Given the description of an element on the screen output the (x, y) to click on. 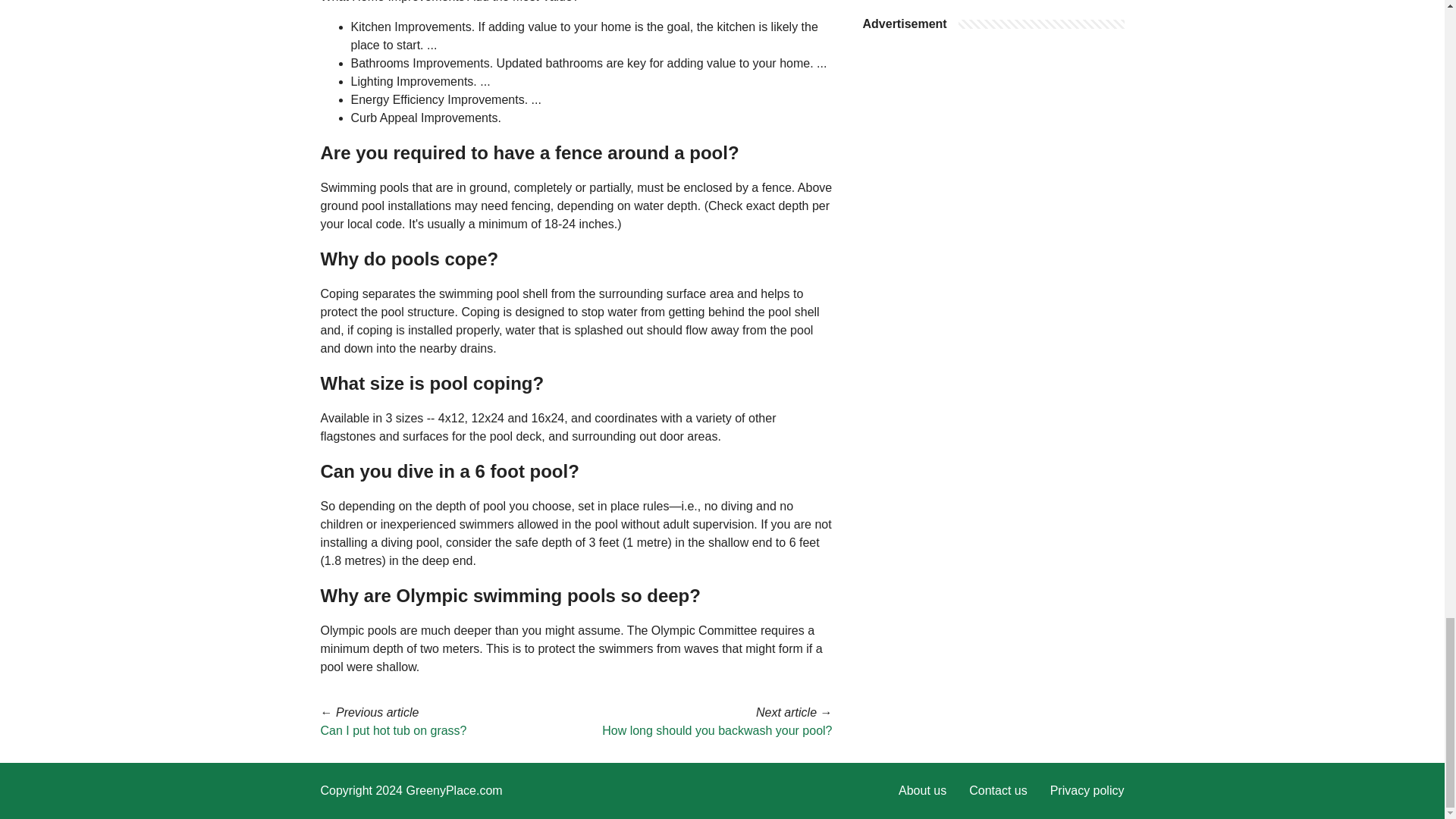
How long should you backwash your pool? (716, 730)
Can I put hot tub on grass? (392, 730)
